Given the description of an element on the screen output the (x, y) to click on. 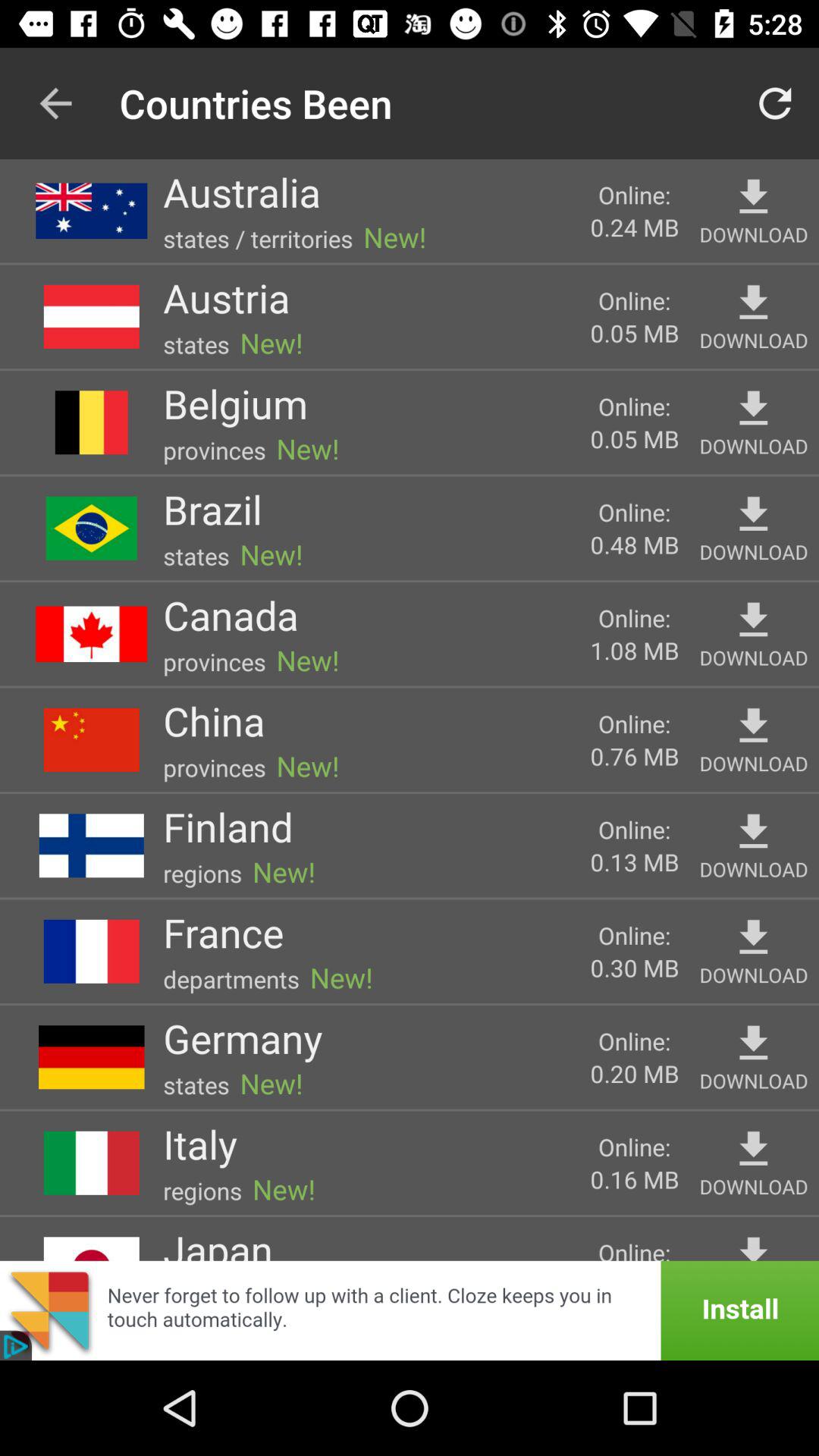
install pop up add (409, 1310)
